Given the description of an element on the screen output the (x, y) to click on. 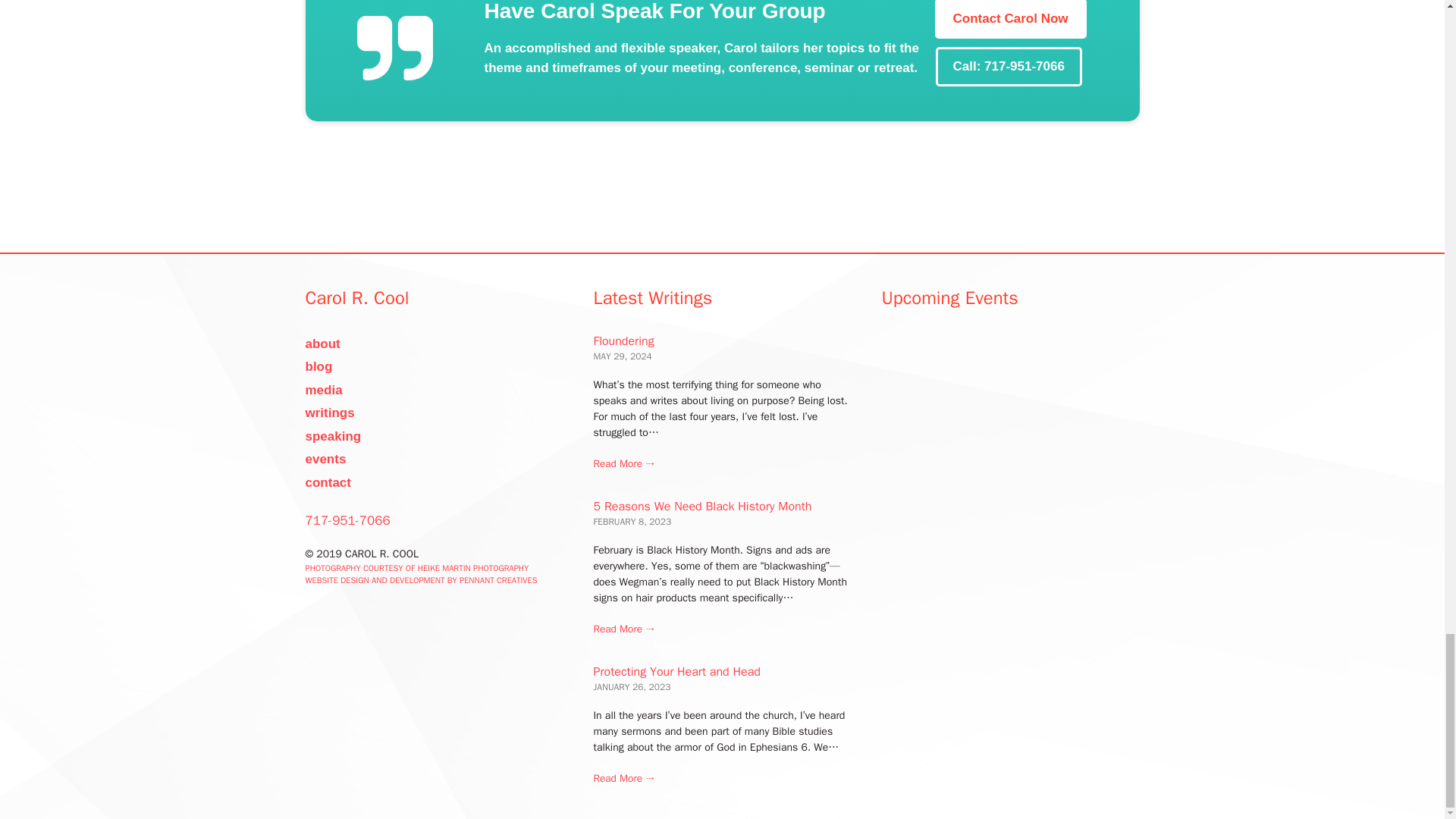
Call: 717-951-7066 (1007, 65)
about (321, 343)
9:40 pm (621, 356)
blog (317, 366)
5 Reasons We Need Black History Month (622, 629)
Protecting Your Heart and Head (622, 779)
Contact Carol Now (1011, 19)
writings (328, 412)
speaking (332, 436)
11:13 pm (631, 521)
